Given the description of an element on the screen output the (x, y) to click on. 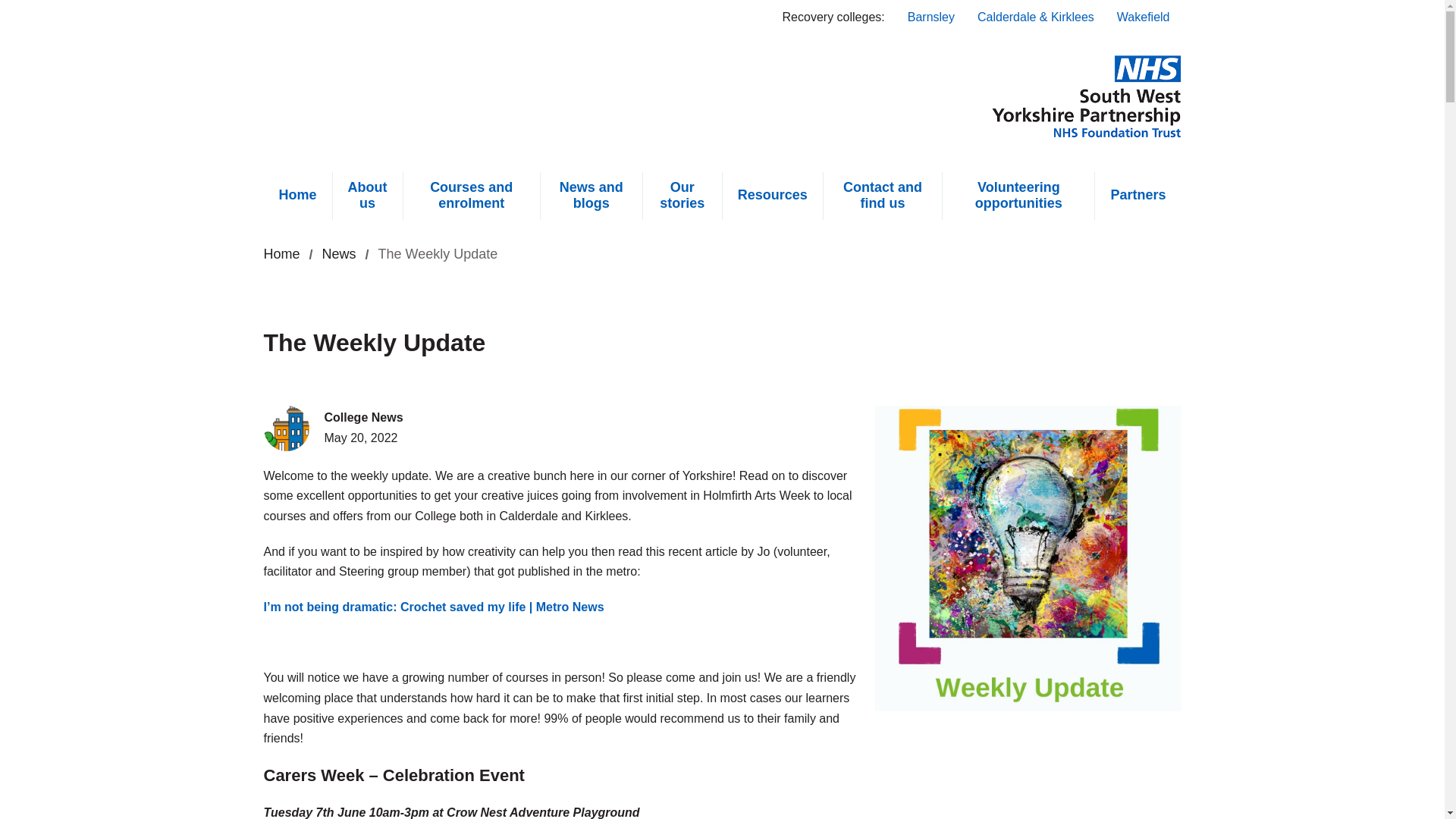
Barnsley (931, 18)
Skip to content (18, 11)
Wakefield (1142, 18)
Home (281, 253)
Courses and enrolment (471, 195)
Our stories (682, 195)
Contact and find us (882, 195)
Volunteering opportunities (1018, 195)
News (338, 253)
News and blogs (408, 95)
Partners (591, 195)
About us (1137, 195)
Home (367, 195)
Resources (281, 253)
